Given the description of an element on the screen output the (x, y) to click on. 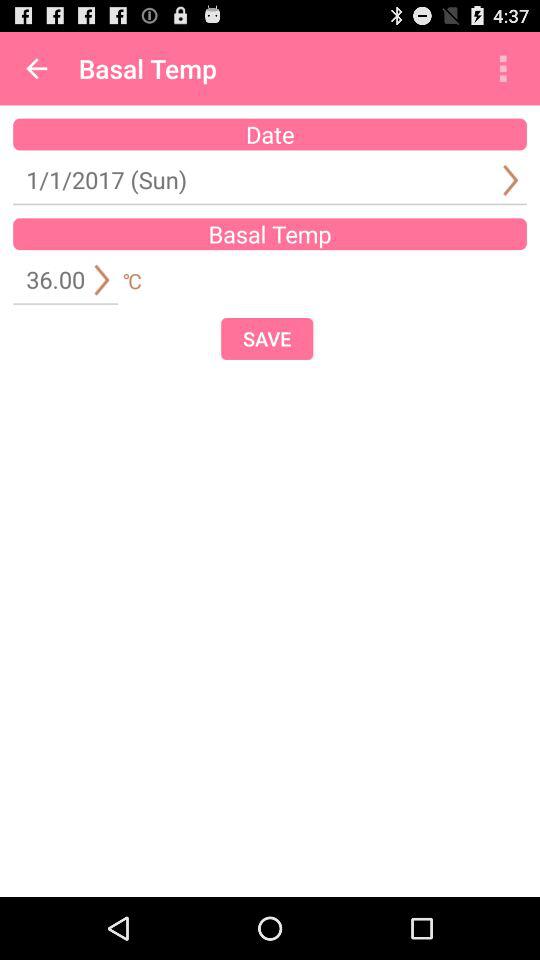
press the item at the center (267, 338)
